Given the description of an element on the screen output the (x, y) to click on. 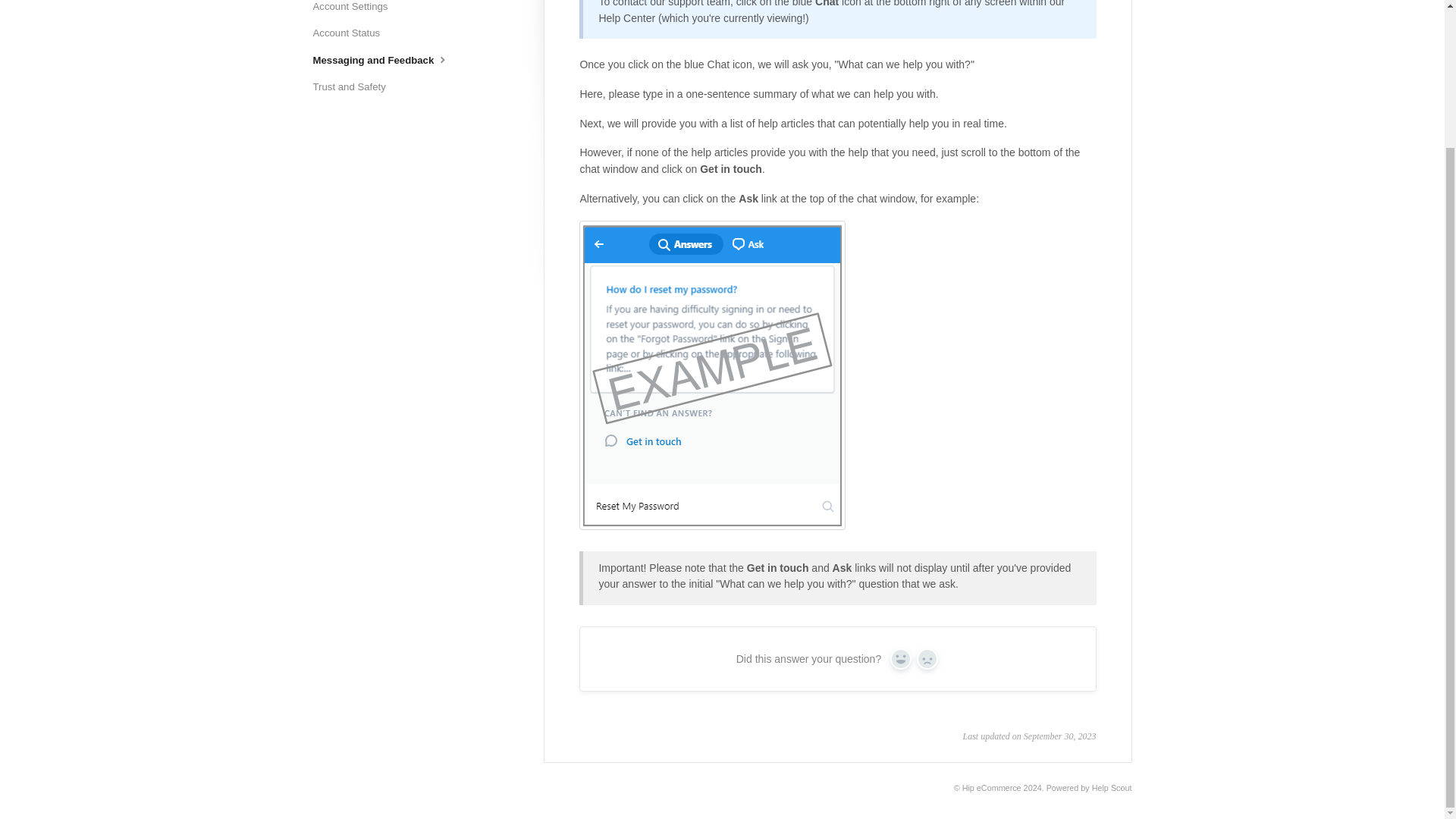
No (927, 658)
Yes (900, 658)
Trust and Safety (354, 87)
Account Status (352, 33)
Messaging and Feedback (387, 59)
Account Settings (355, 9)
Help Scout (1112, 787)
